Given the description of an element on the screen output the (x, y) to click on. 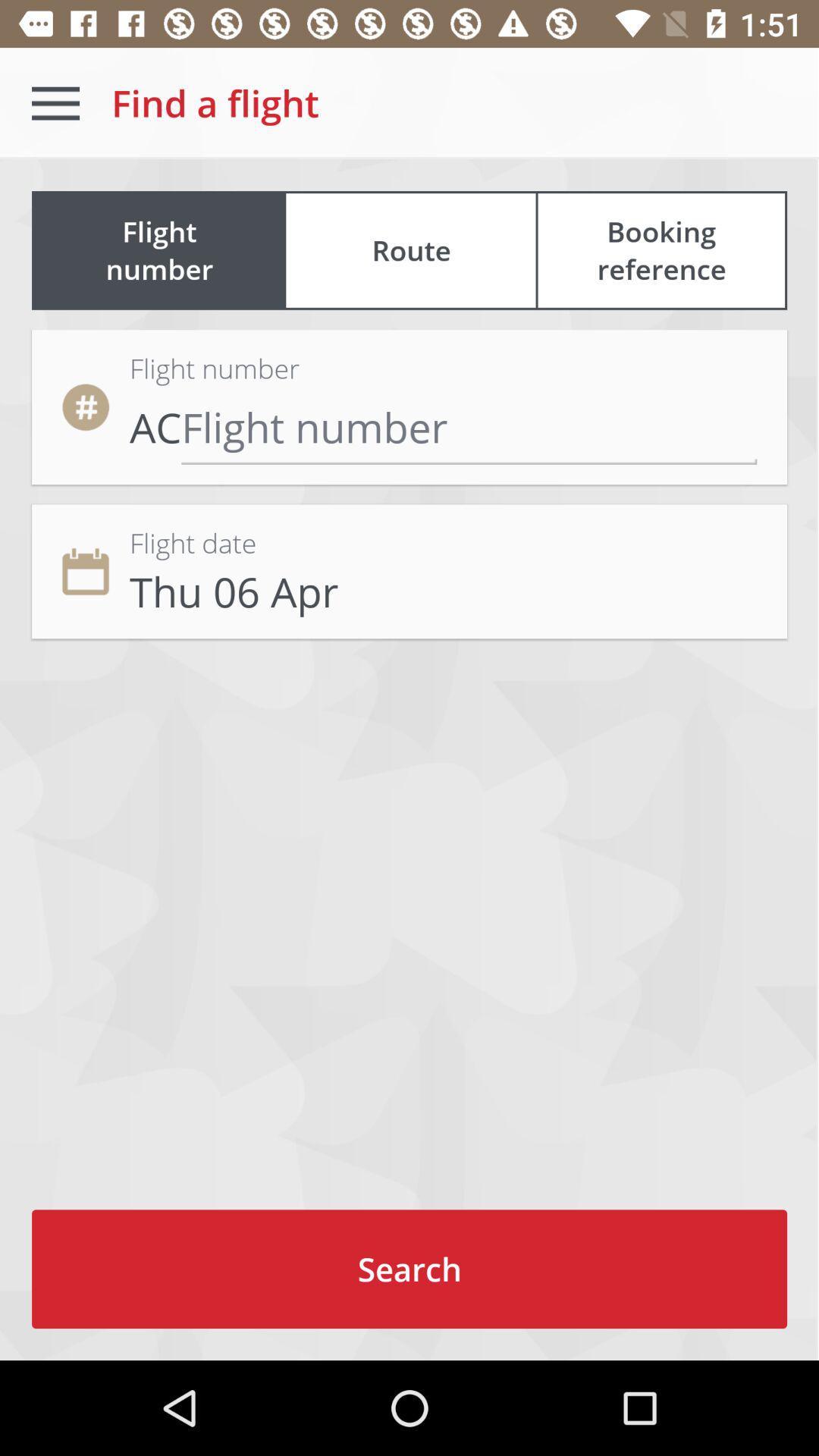
click on the second option (409, 571)
